Given the description of an element on the screen output the (x, y) to click on. 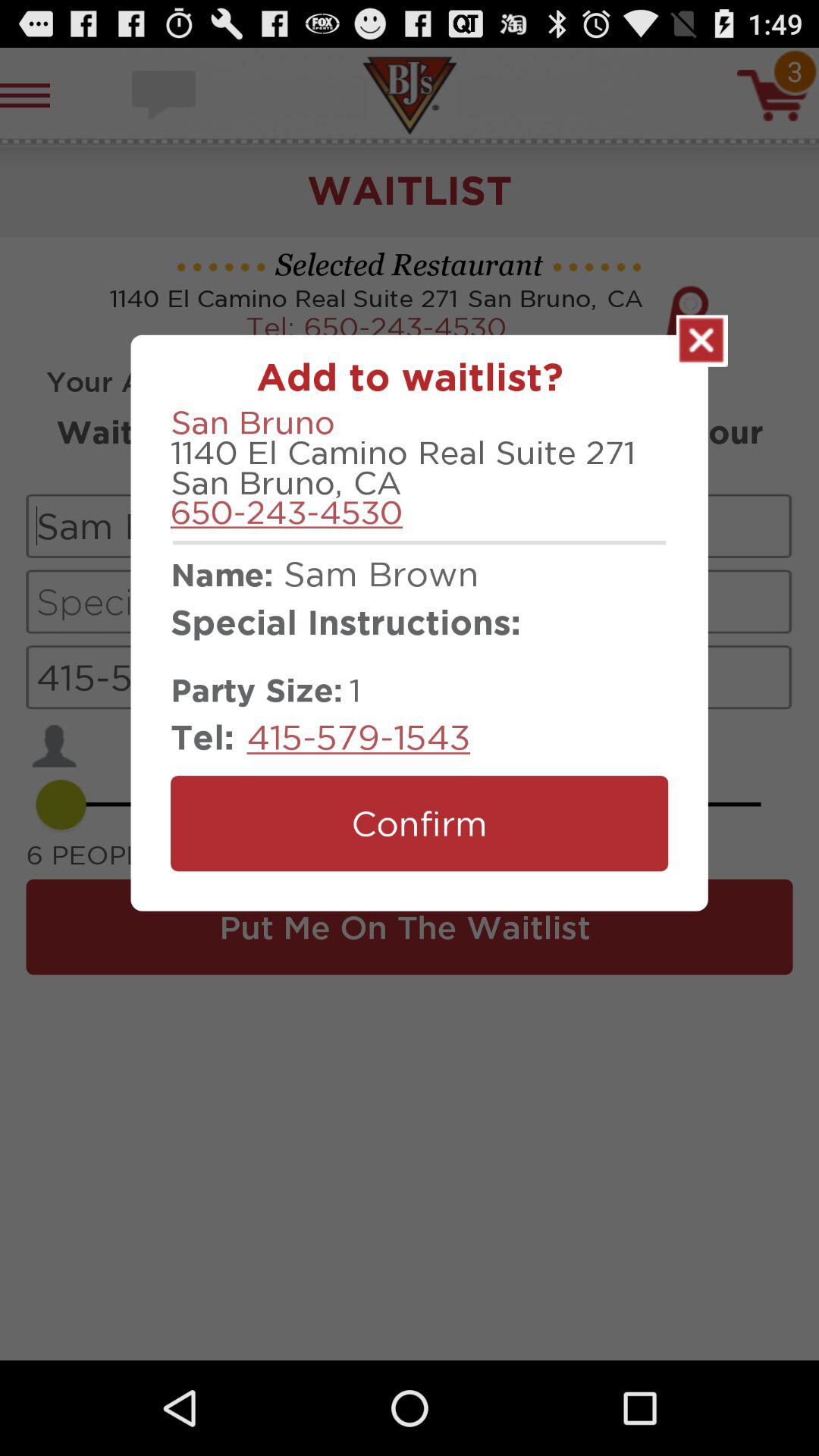
turn on icon to the right of the tel:  icon (358, 736)
